Given the description of an element on the screen output the (x, y) to click on. 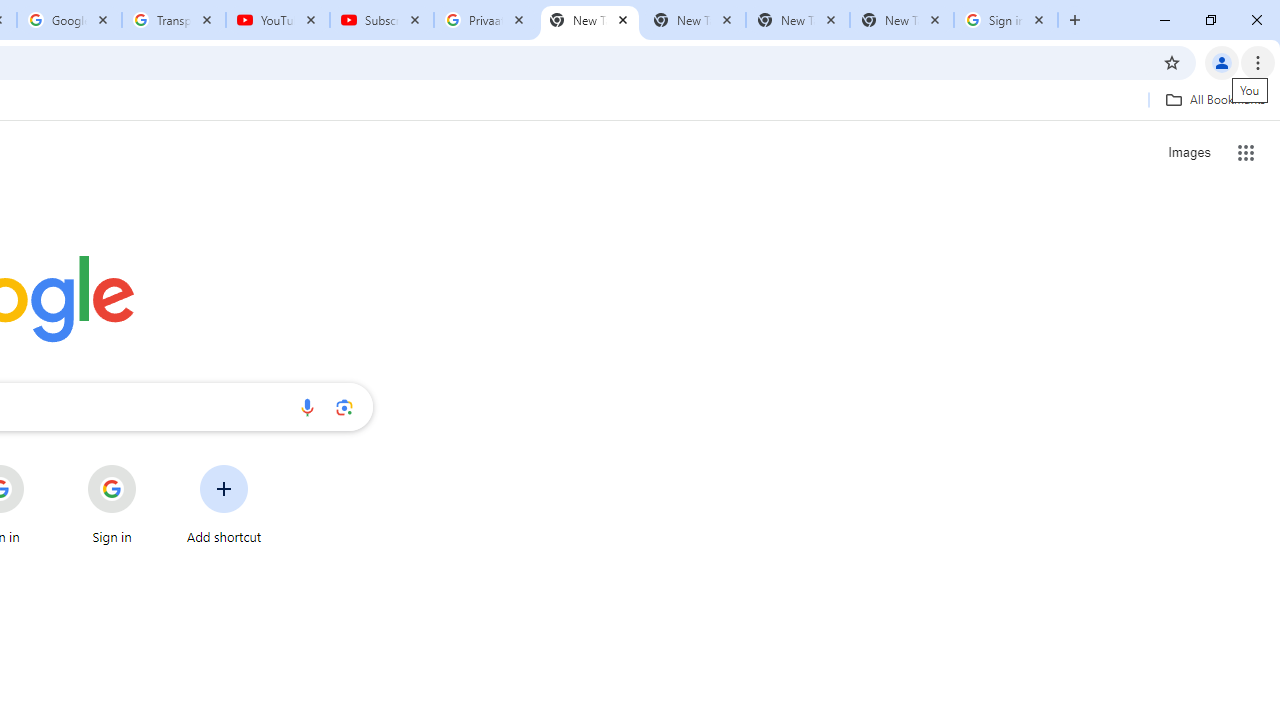
Google Account (68, 20)
Sign in - Google Accounts (1005, 20)
New Tab (589, 20)
More actions for Sign in shortcut (152, 466)
Subscriptions - YouTube (381, 20)
YouTube (278, 20)
